Given the description of an element on the screen output the (x, y) to click on. 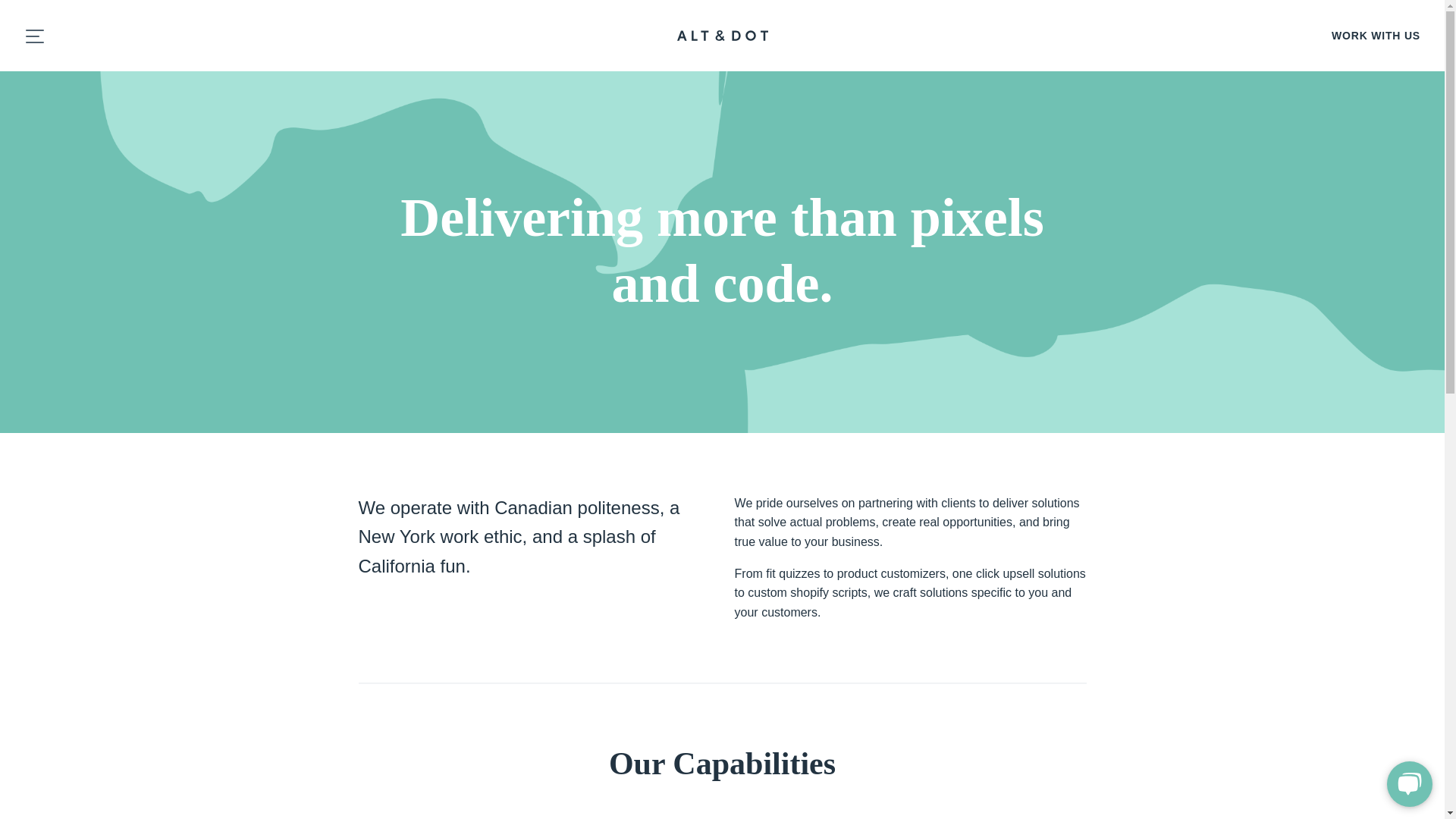
WORK WITH US (1376, 34)
Toggle Menu (33, 35)
